Given the description of an element on the screen output the (x, y) to click on. 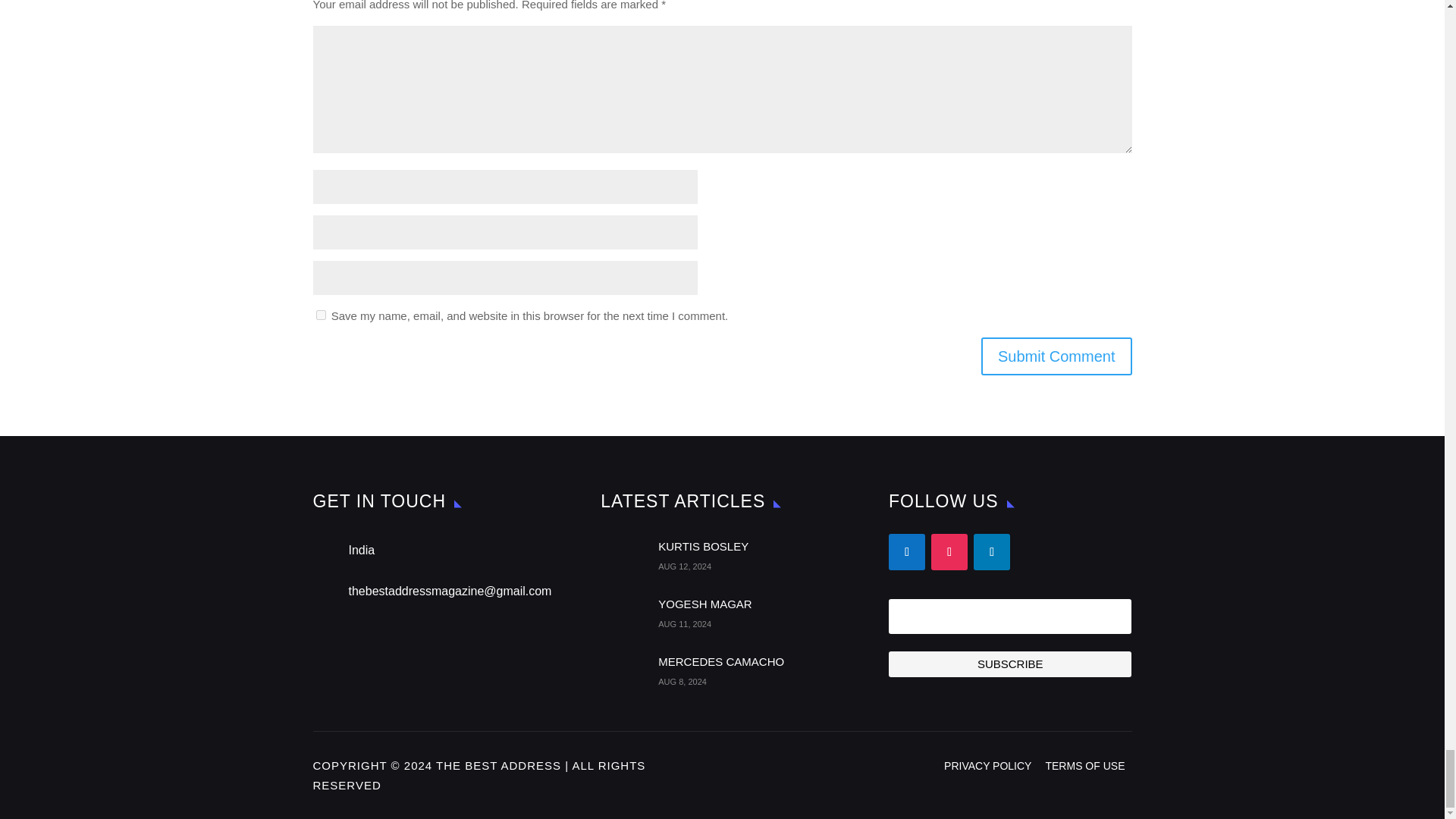
yes (319, 315)
Follow on LinkedIn (992, 551)
Follow on Instagram (949, 551)
Submit Comment (1056, 356)
Follow on Facebook (906, 551)
